Given the description of an element on the screen output the (x, y) to click on. 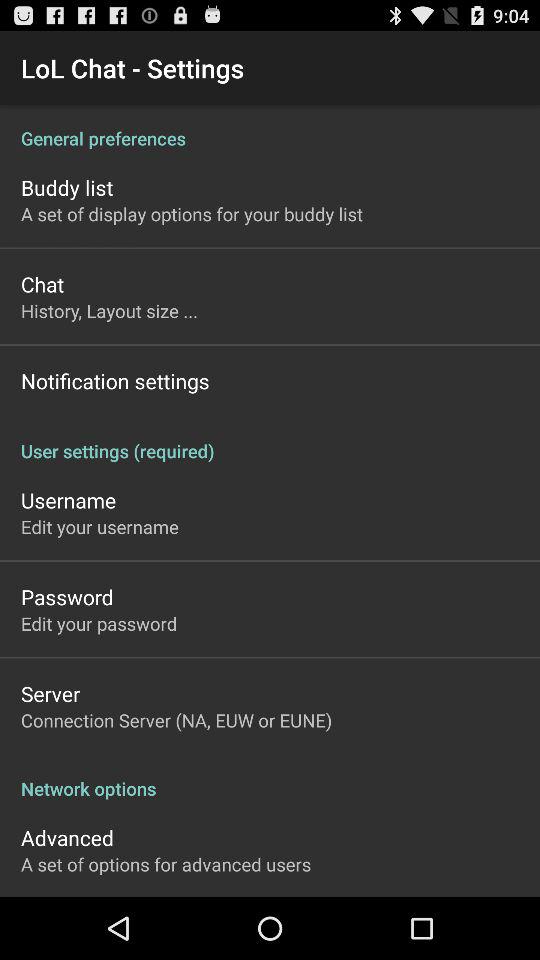
turn off app at the center (270, 440)
